Given the description of an element on the screen output the (x, y) to click on. 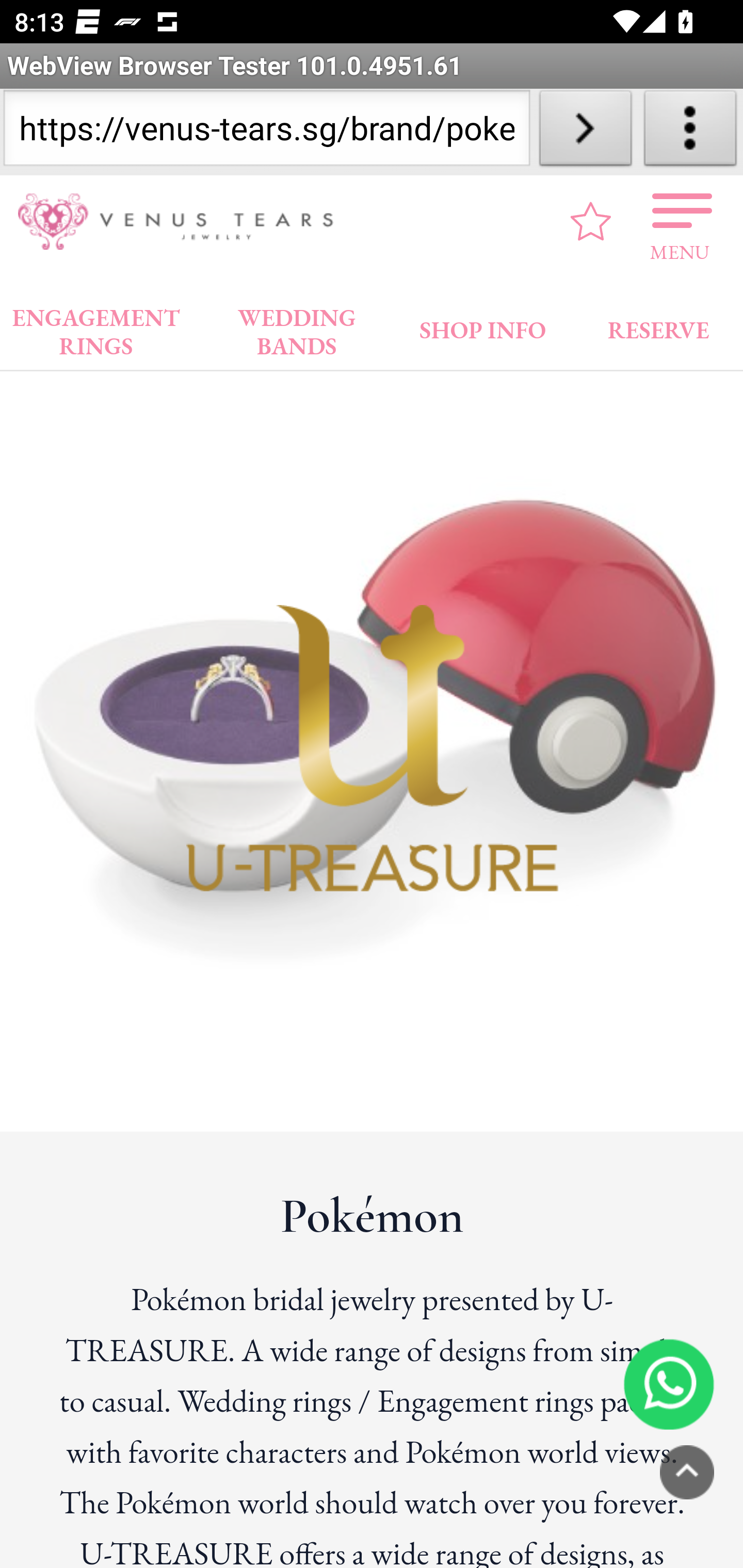
Load URL (585, 132)
About WebView (690, 132)
favourite (591, 220)
MENU (680, 220)
VENUS TEARS (181, 221)
Brand (224, 212)
ENGAGEMENT RINGS ENGAGEMENT RINGS (96, 326)
WEDDING BANDS WEDDING BANDS (296, 326)
SHOP INFO (482, 325)
RESERVE (657, 325)
6585184875 (668, 1383)
PAGETOP (686, 1472)
